Given the description of an element on the screen output the (x, y) to click on. 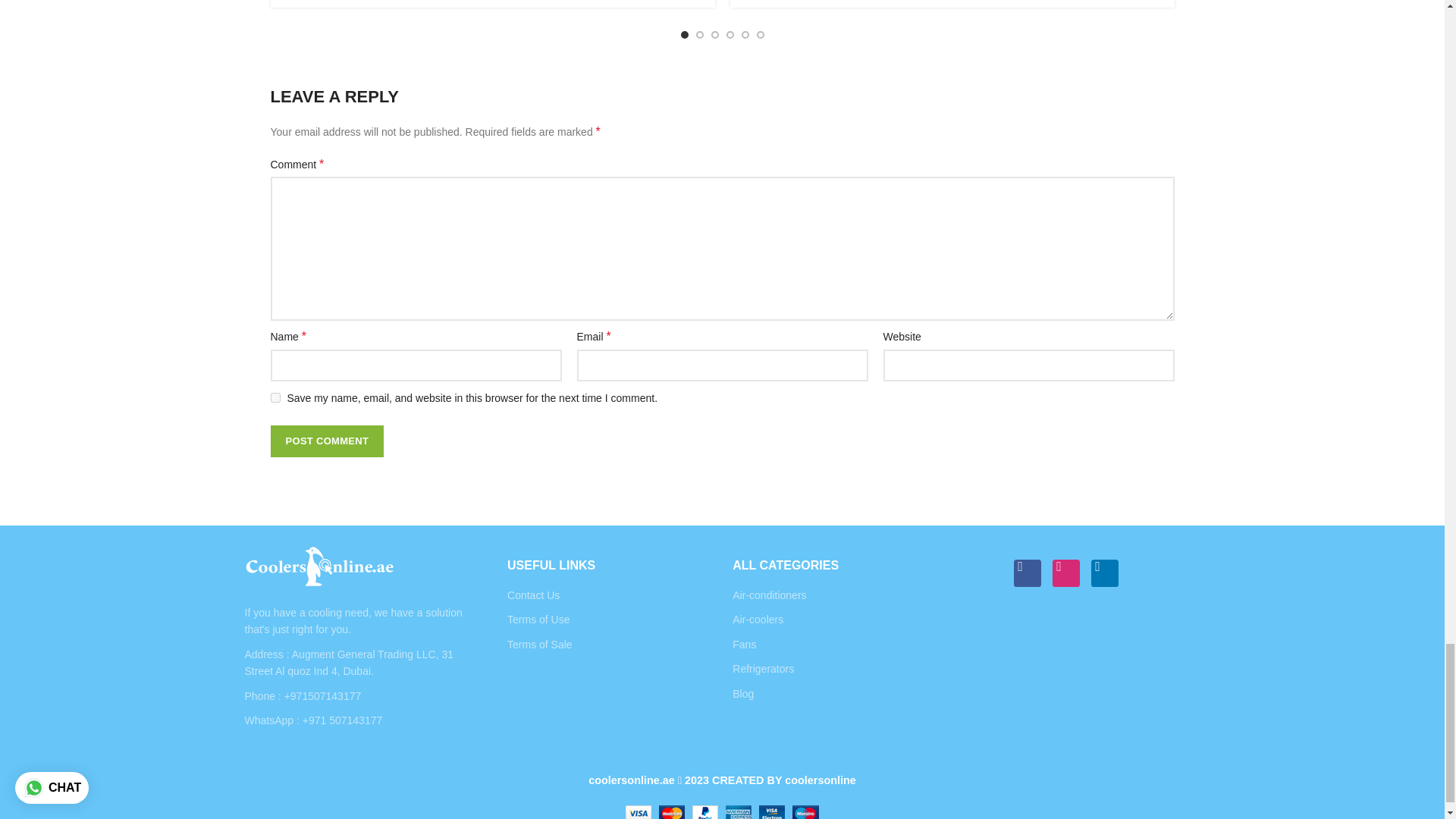
Post Comment (326, 441)
yes (274, 397)
